Given the description of an element on the screen output the (x, y) to click on. 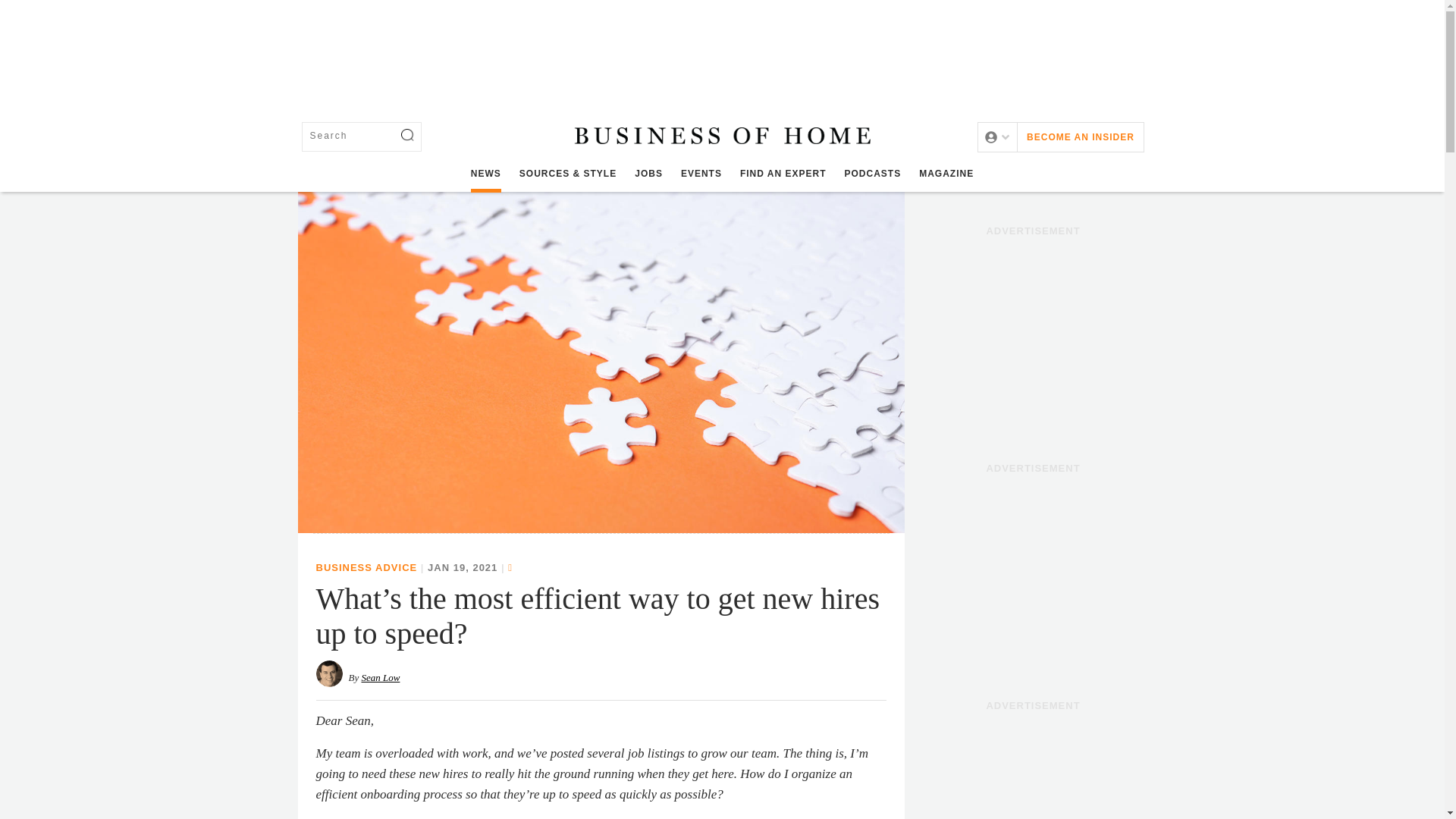
3rd party ad content (1032, 575)
NEWS (485, 173)
3rd party ad content (721, 50)
3rd party ad content (1032, 338)
3rd party ad content (1032, 768)
